Given the description of an element on the screen output the (x, y) to click on. 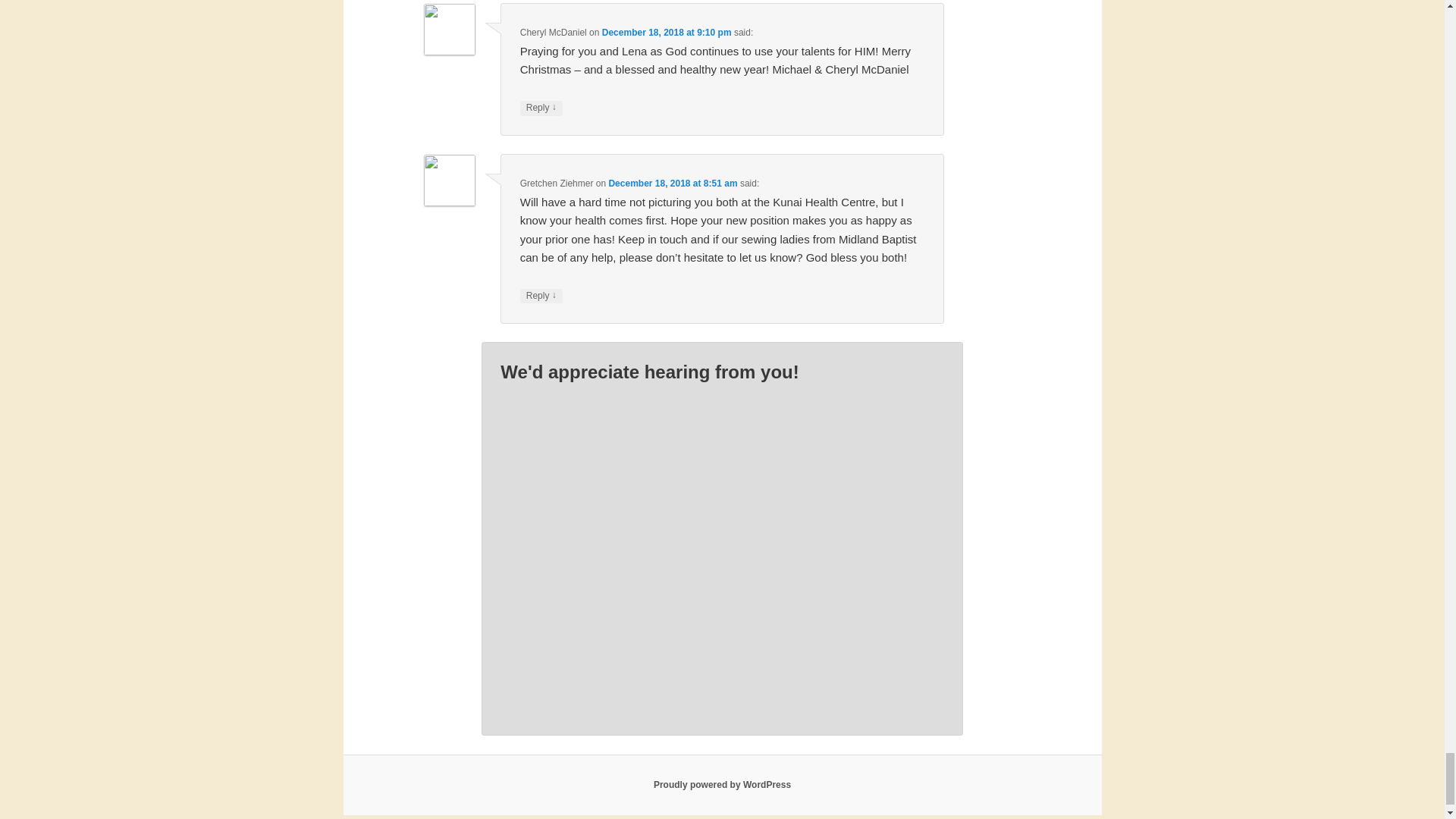
Semantic Personal Publishing Platform (721, 784)
